Given the description of an element on the screen output the (x, y) to click on. 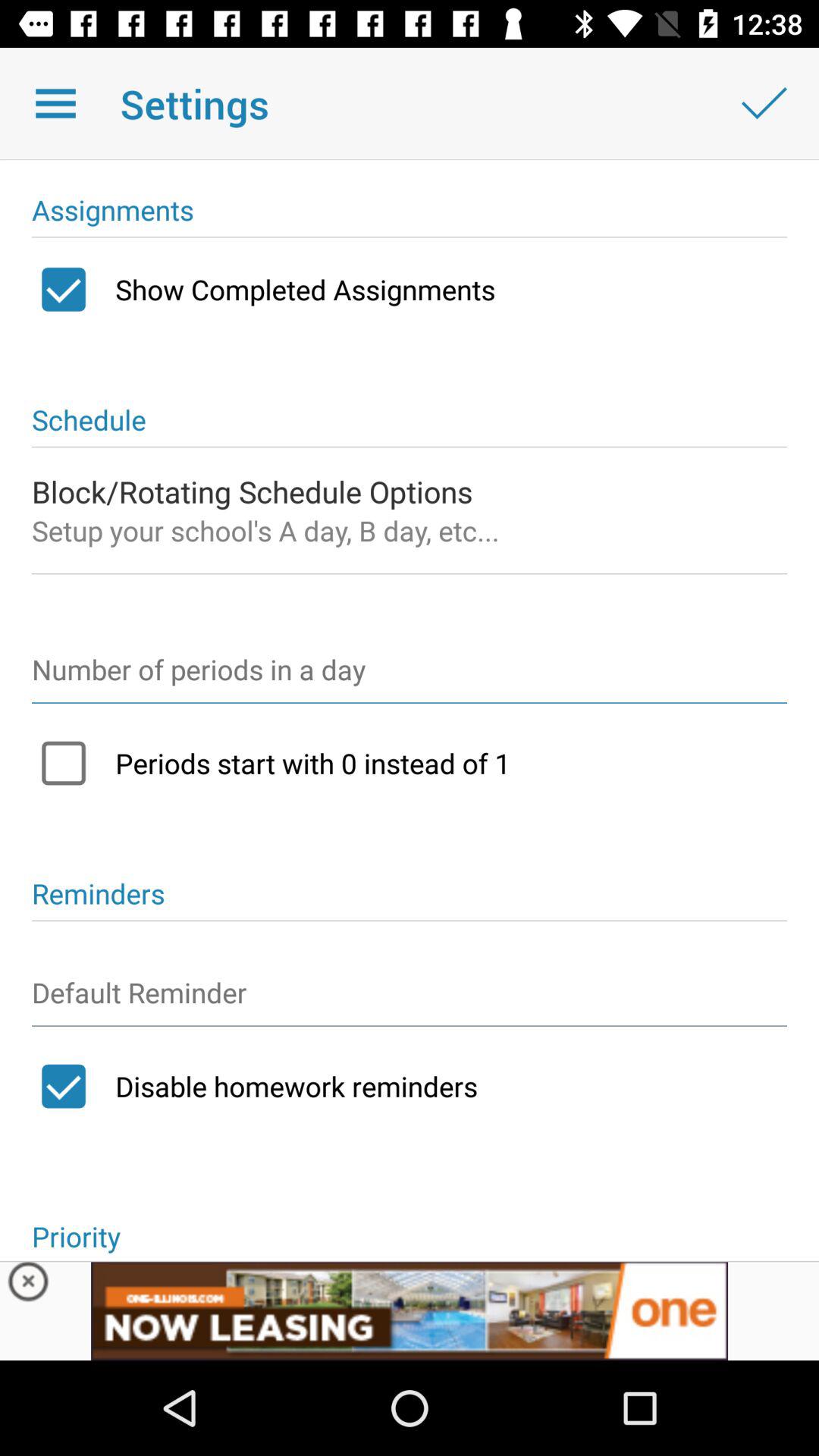
default reminder button (409, 999)
